Given the description of an element on the screen output the (x, y) to click on. 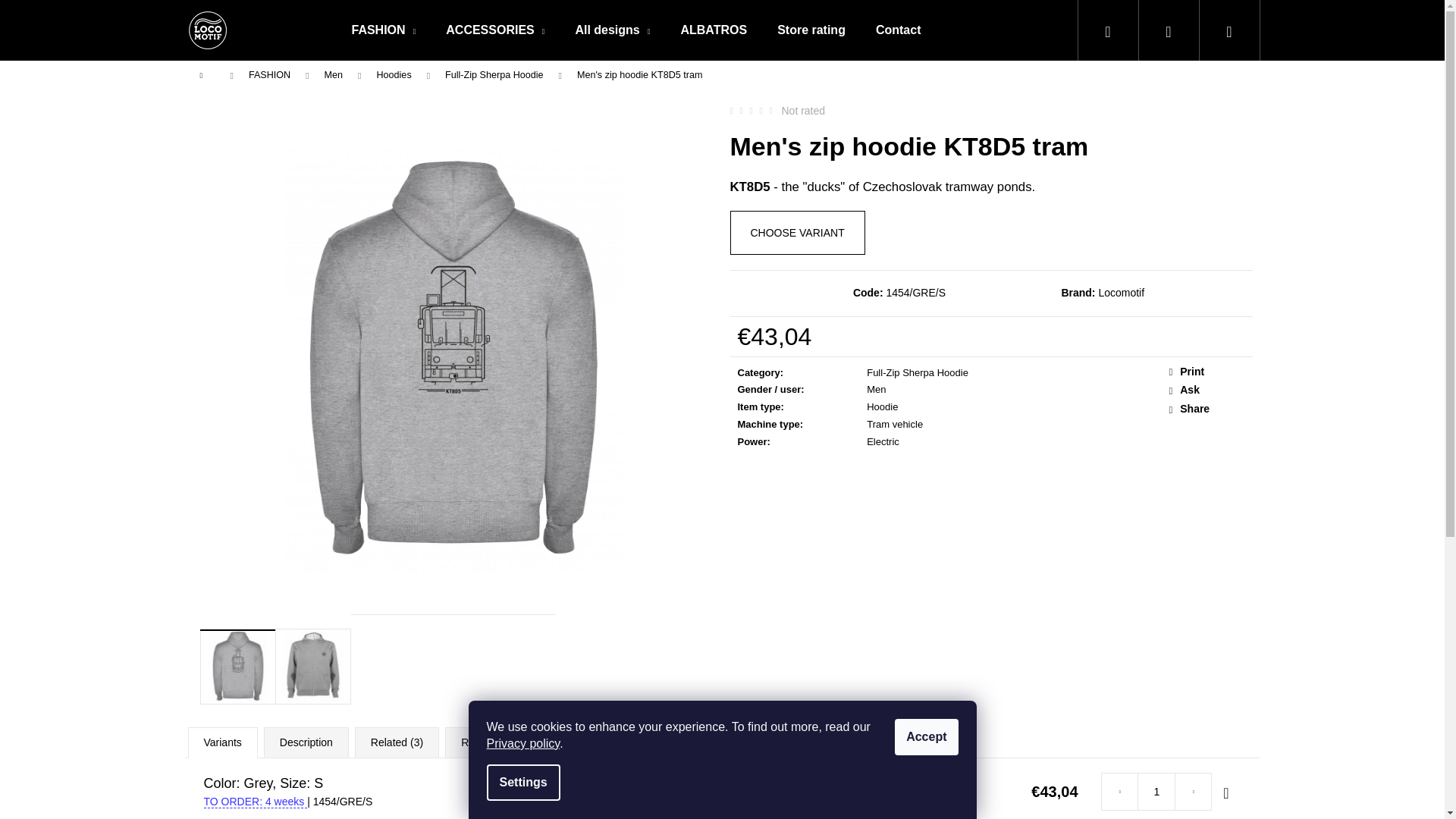
Print product (1206, 372)
FASHION (383, 30)
Share product (1206, 409)
ACCESSORIES (494, 30)
All designs (612, 30)
1 (1156, 791)
Speak to a sales advisor (1206, 390)
